Given the description of an element on the screen output the (x, y) to click on. 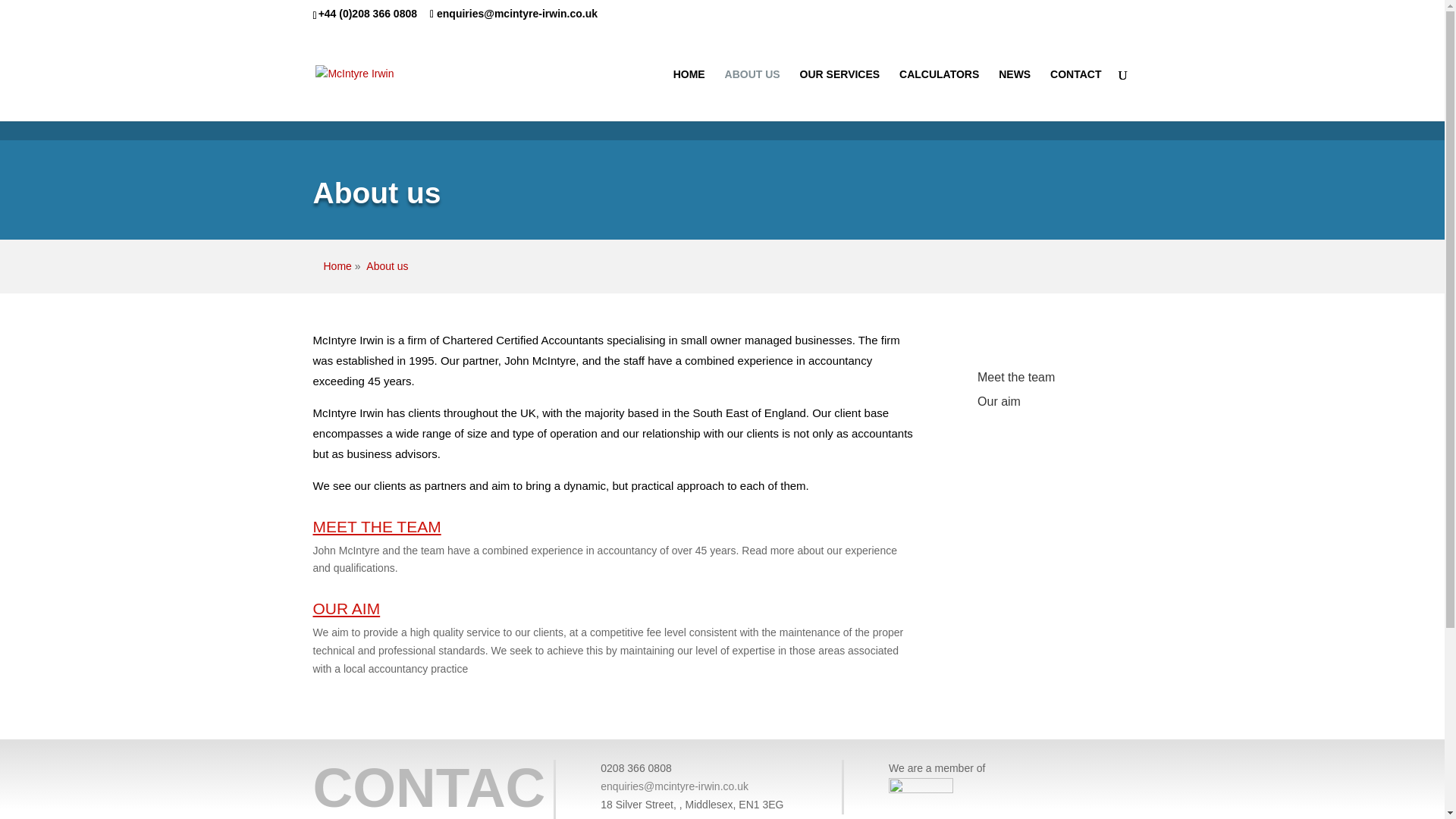
CONTACT (1074, 94)
Meet the team (1015, 377)
About us (386, 265)
OUR SERVICES (839, 94)
ABOUT US (752, 94)
acca (920, 787)
CALCULATORS (938, 94)
Home (336, 265)
Our aim (998, 400)
